Given the description of an element on the screen output the (x, y) to click on. 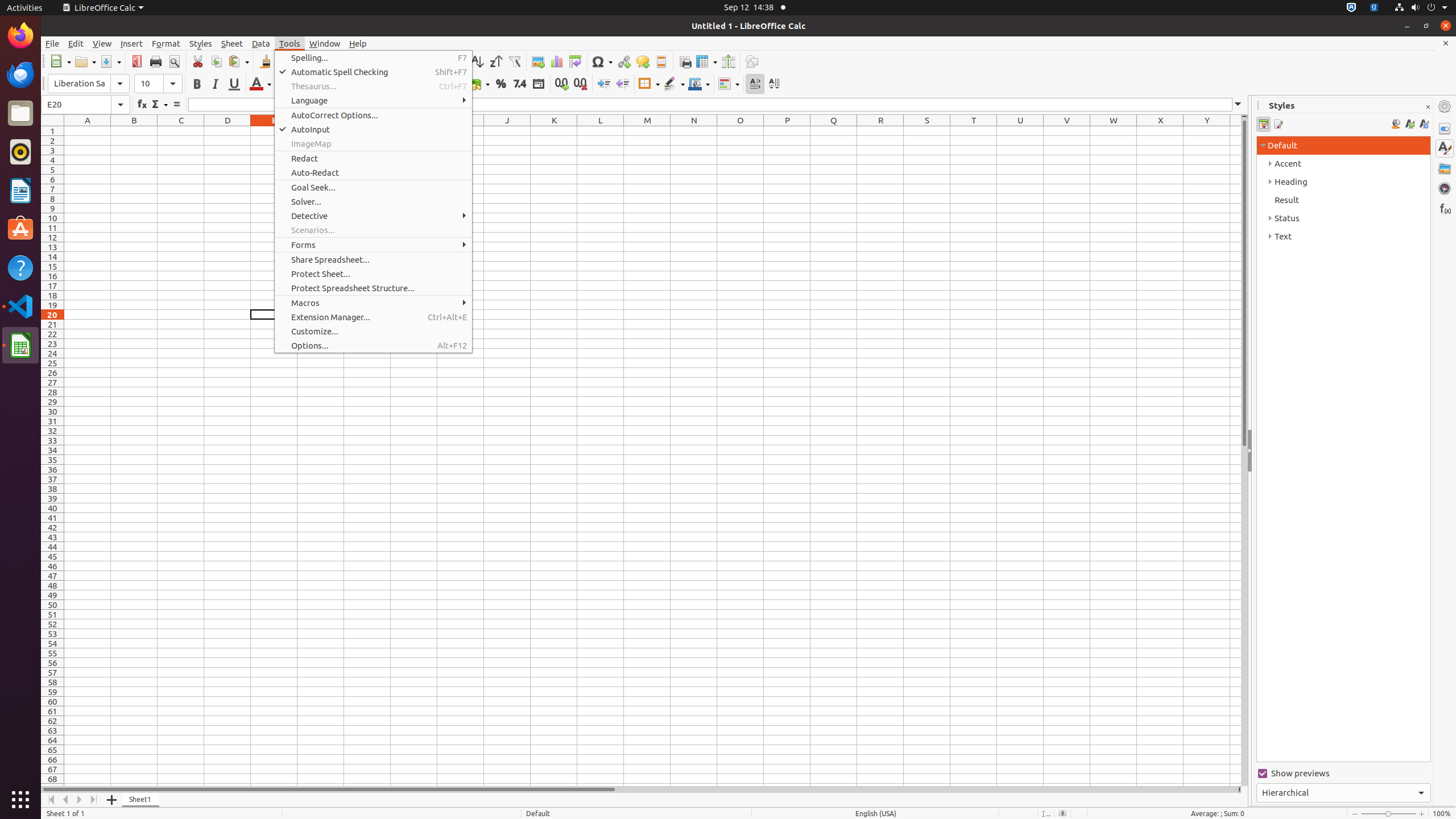
Freeze Rows and Columns Element type: push-button (705, 61)
H1 Element type: table-cell (413, 130)
Conditional Element type: push-button (728, 83)
Show Applications Element type: toggle-button (20, 799)
Macros Element type: menu (373, 302)
